Given the description of an element on the screen output the (x, y) to click on. 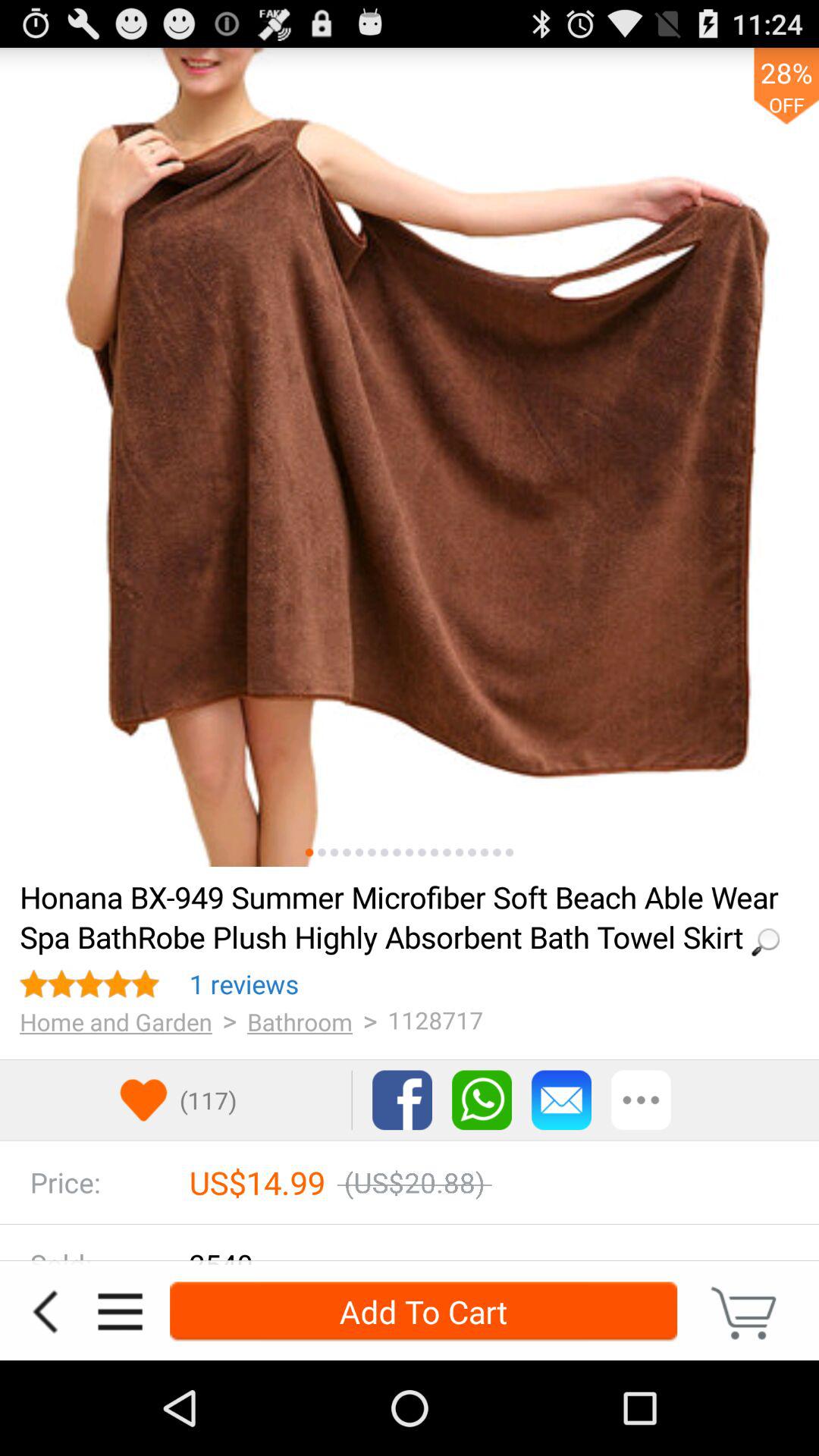
select product image (334, 852)
